Given the description of an element on the screen output the (x, y) to click on. 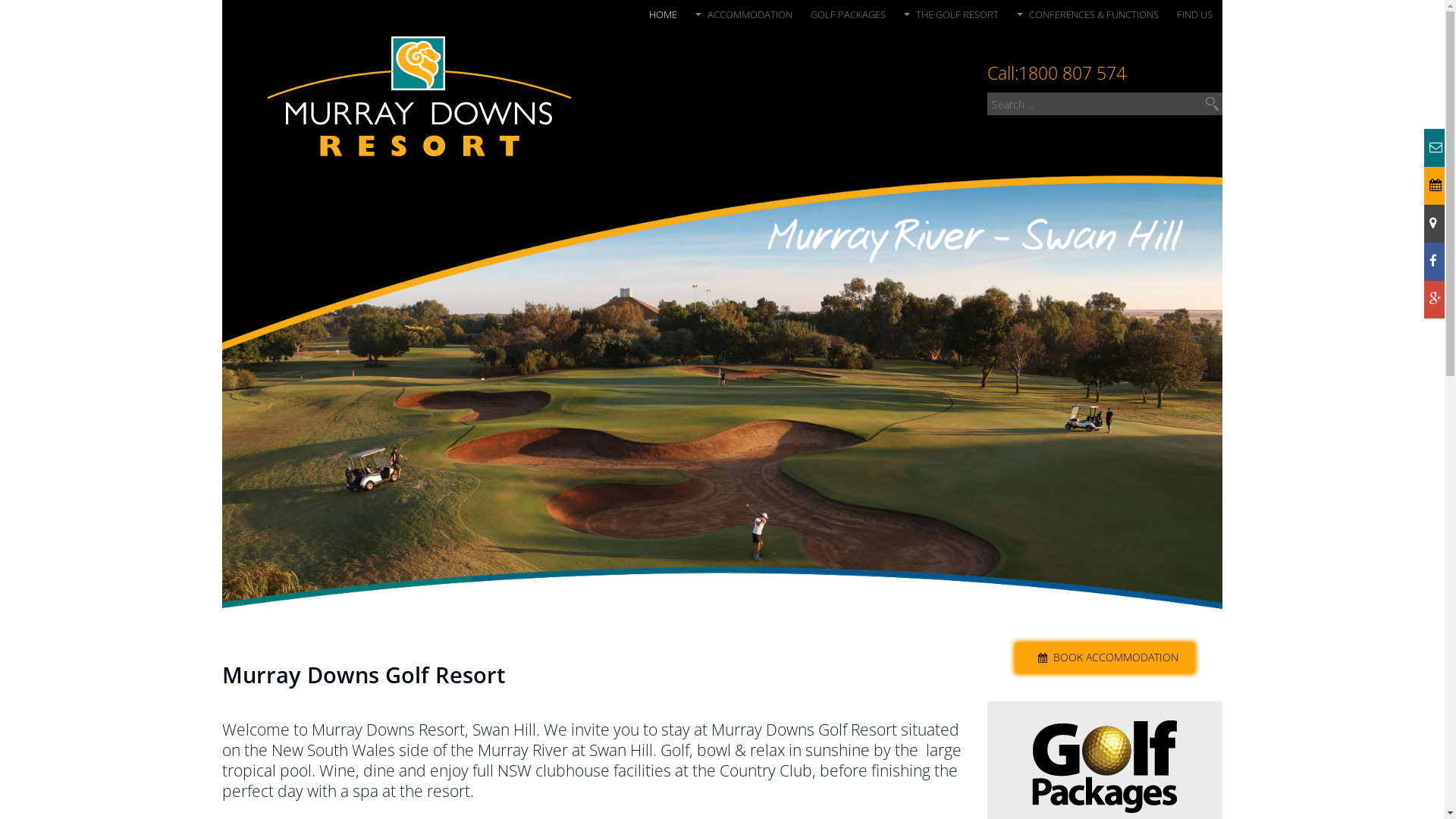
ACCOMMODATION Element type: text (743, 16)
  BOOK ACCOMMODATION Element type: text (1112, 656)
FIND US Element type: text (1194, 16)
THE GOLF RESORT Element type: text (950, 16)
HOME Element type: text (663, 16)
GOLF PACKAGES Element type: text (847, 16)
CONFERENCES & FUNCTIONS Element type: text (1087, 16)
